Given the description of an element on the screen output the (x, y) to click on. 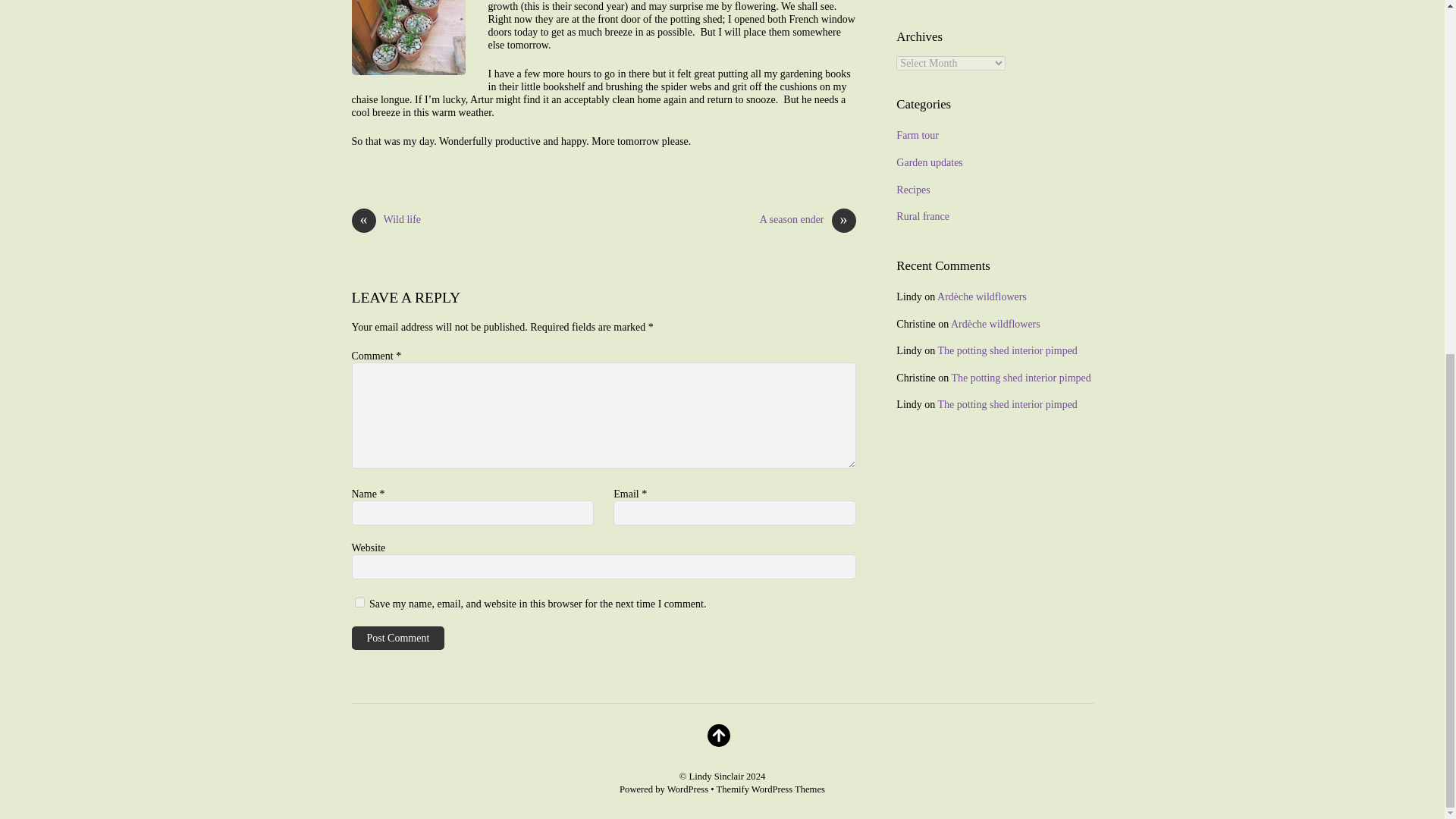
Post Comment (398, 638)
Rural france (922, 215)
Recipes (913, 189)
Garden updates (929, 162)
The potting shed interior pimped (1020, 378)
Post Comment (398, 638)
Lindy Sinclair (715, 776)
Farm tour (917, 134)
yes (360, 602)
The potting shed interior pimped (1007, 404)
The potting shed interior pimped (1007, 350)
